Given the description of an element on the screen output the (x, y) to click on. 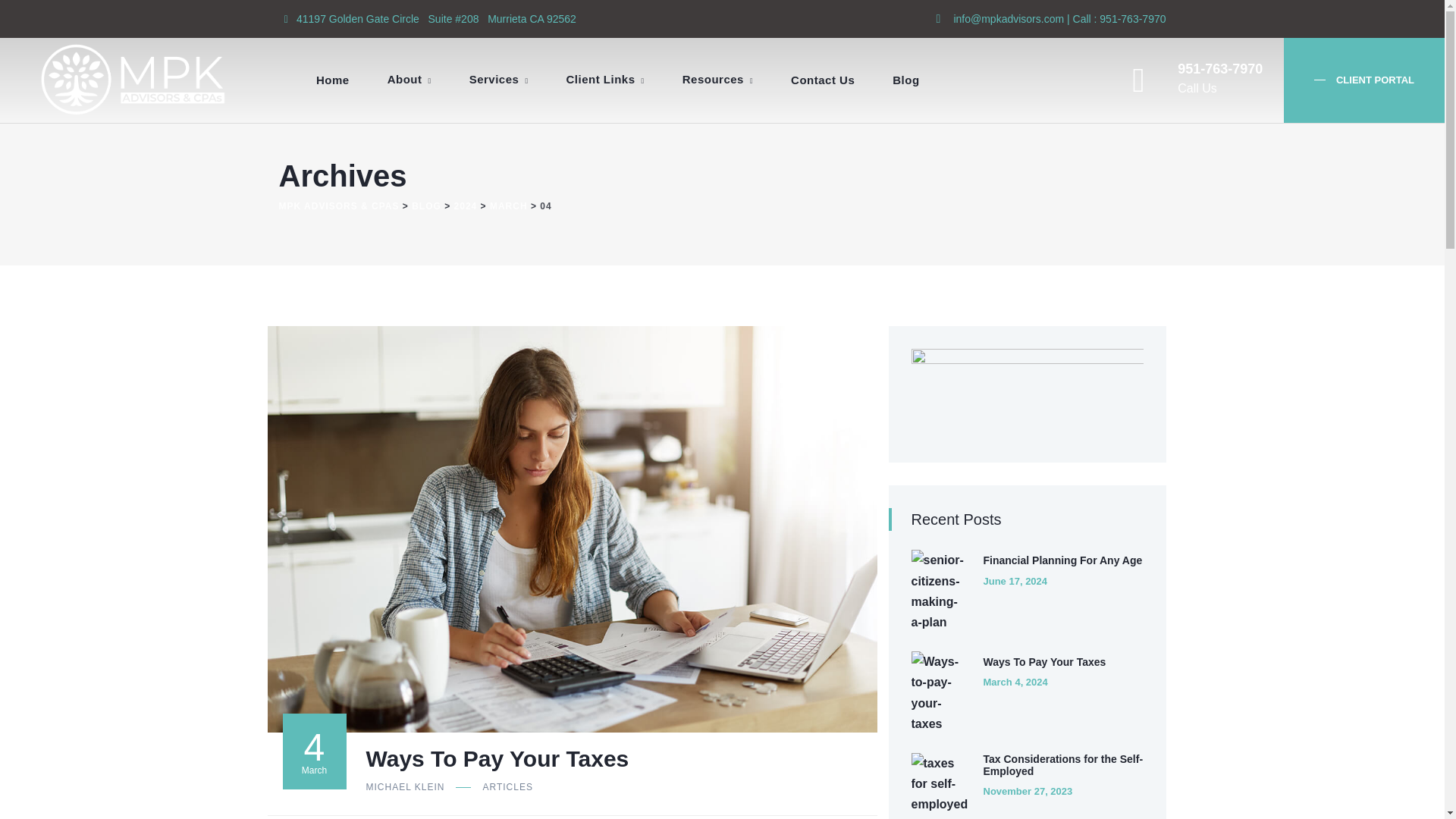
Go to the March archives. (508, 204)
Ways To Pay Your Taxes (496, 758)
MICHAEL KLEIN (404, 787)
Services (499, 79)
MARCH (508, 204)
Go to the 2024 archives. (465, 204)
Contact Us (822, 79)
BLOG (426, 204)
ARTICLES (506, 787)
Go to Blog. (426, 204)
Resources (717, 79)
Client Links (1200, 79)
2024 (605, 79)
